Given the description of an element on the screen output the (x, y) to click on. 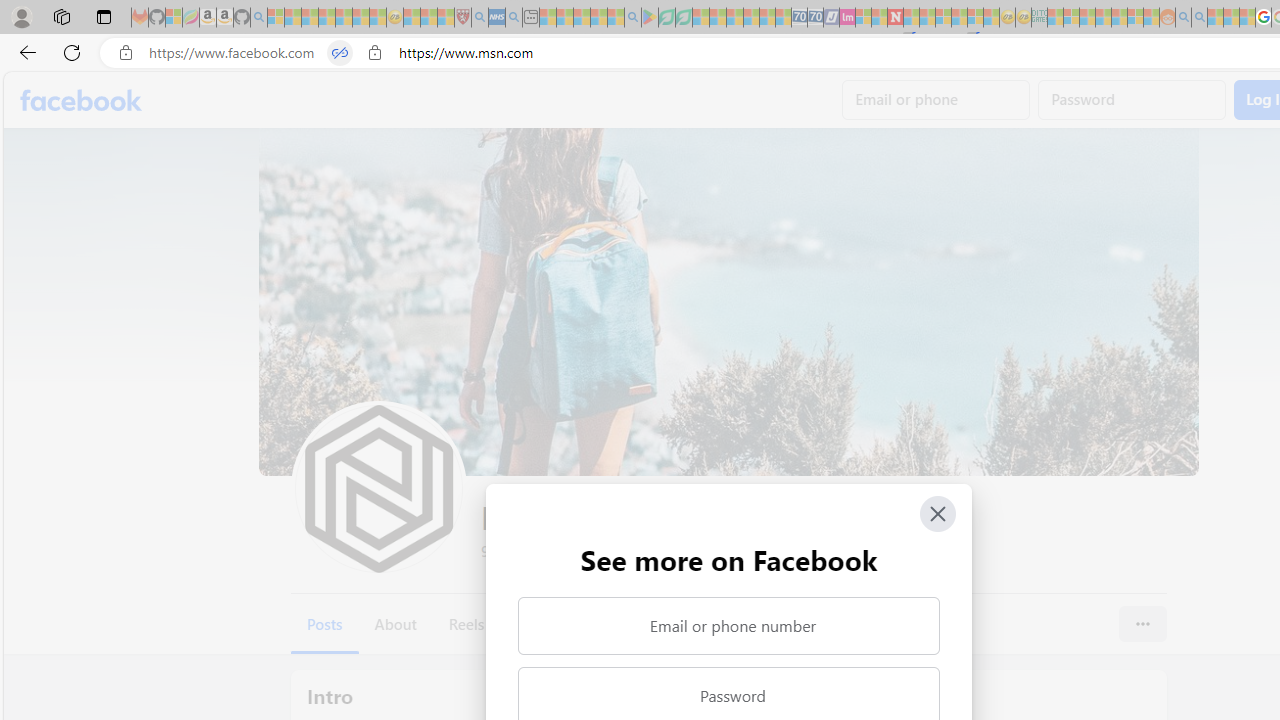
Password (1132, 99)
